Given the description of an element on the screen output the (x, y) to click on. 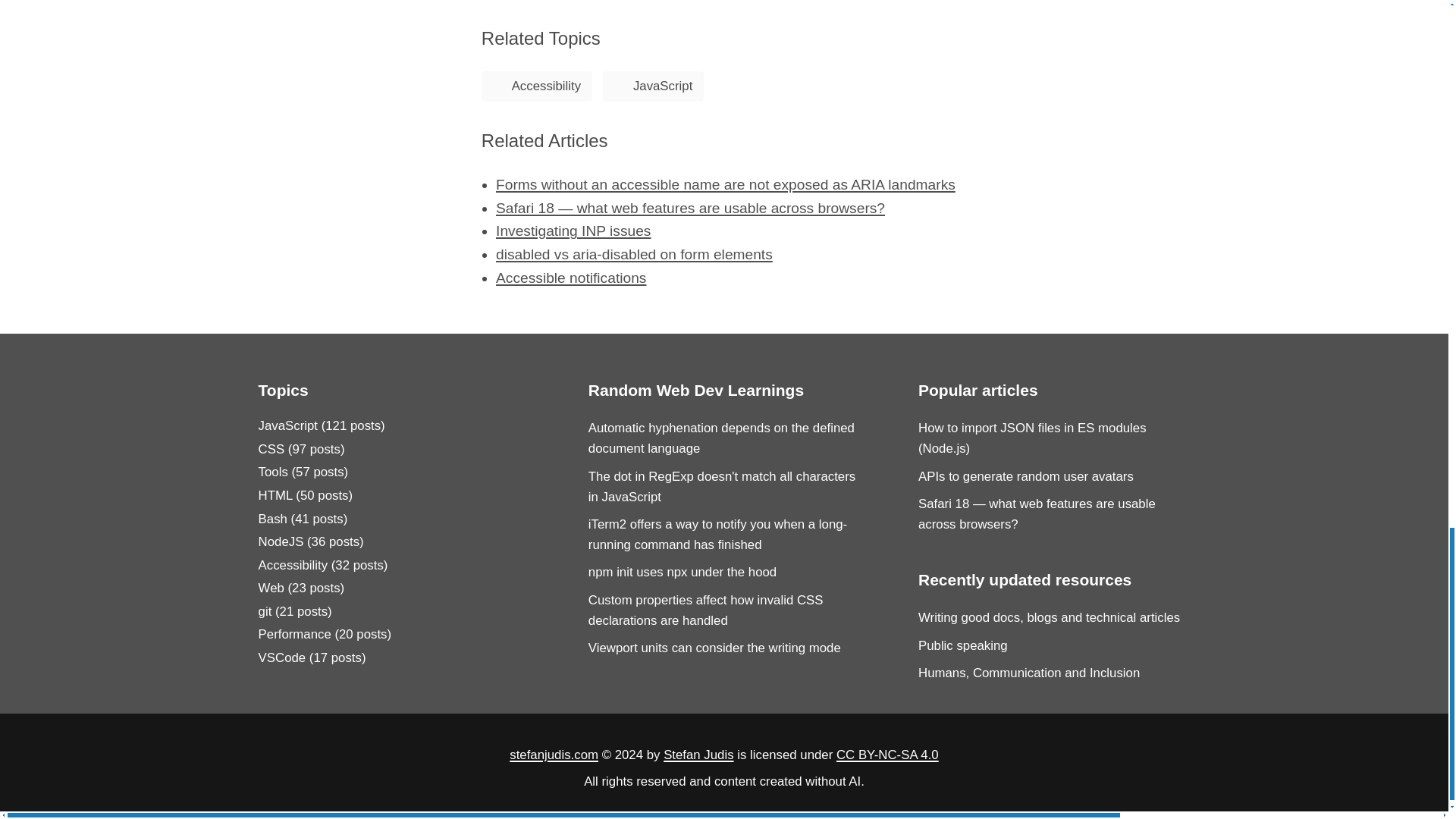
JavaScript (652, 86)
Accessible notifications (571, 277)
Accessibility (536, 86)
disabled vs aria-disabled on form elements (634, 254)
Investigating INP issues (573, 230)
